Given the description of an element on the screen output the (x, y) to click on. 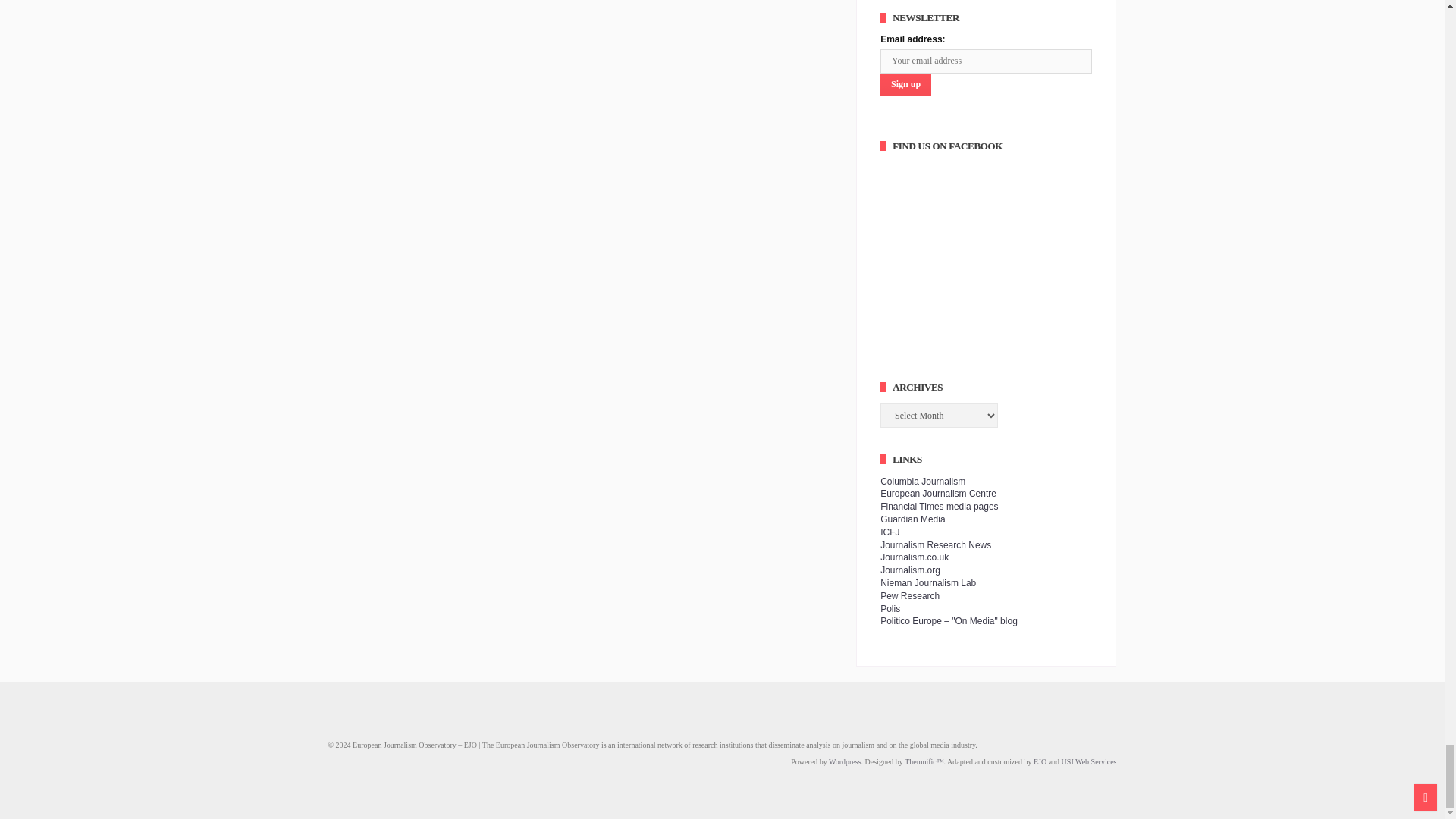
Sign up (905, 84)
